Given the description of an element on the screen output the (x, y) to click on. 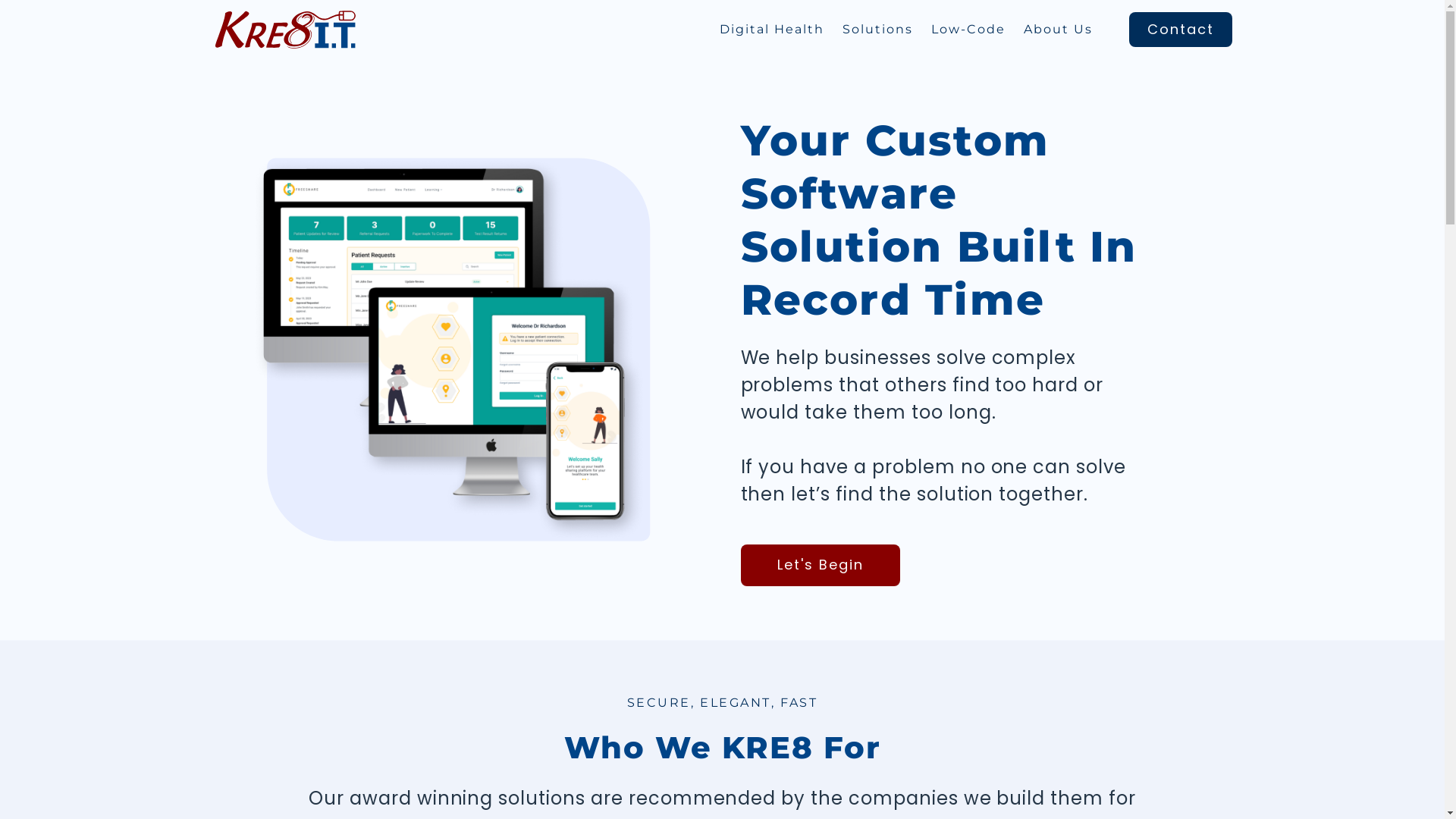
Low-Code Element type: text (996, 29)
Contact Element type: text (1186, 29)
Solutions Element type: text (916, 29)
Let's Begin Element type: text (815, 484)
About Us Element type: text (1076, 29)
Digital Health Element type: text (823, 29)
